Given the description of an element on the screen output the (x, y) to click on. 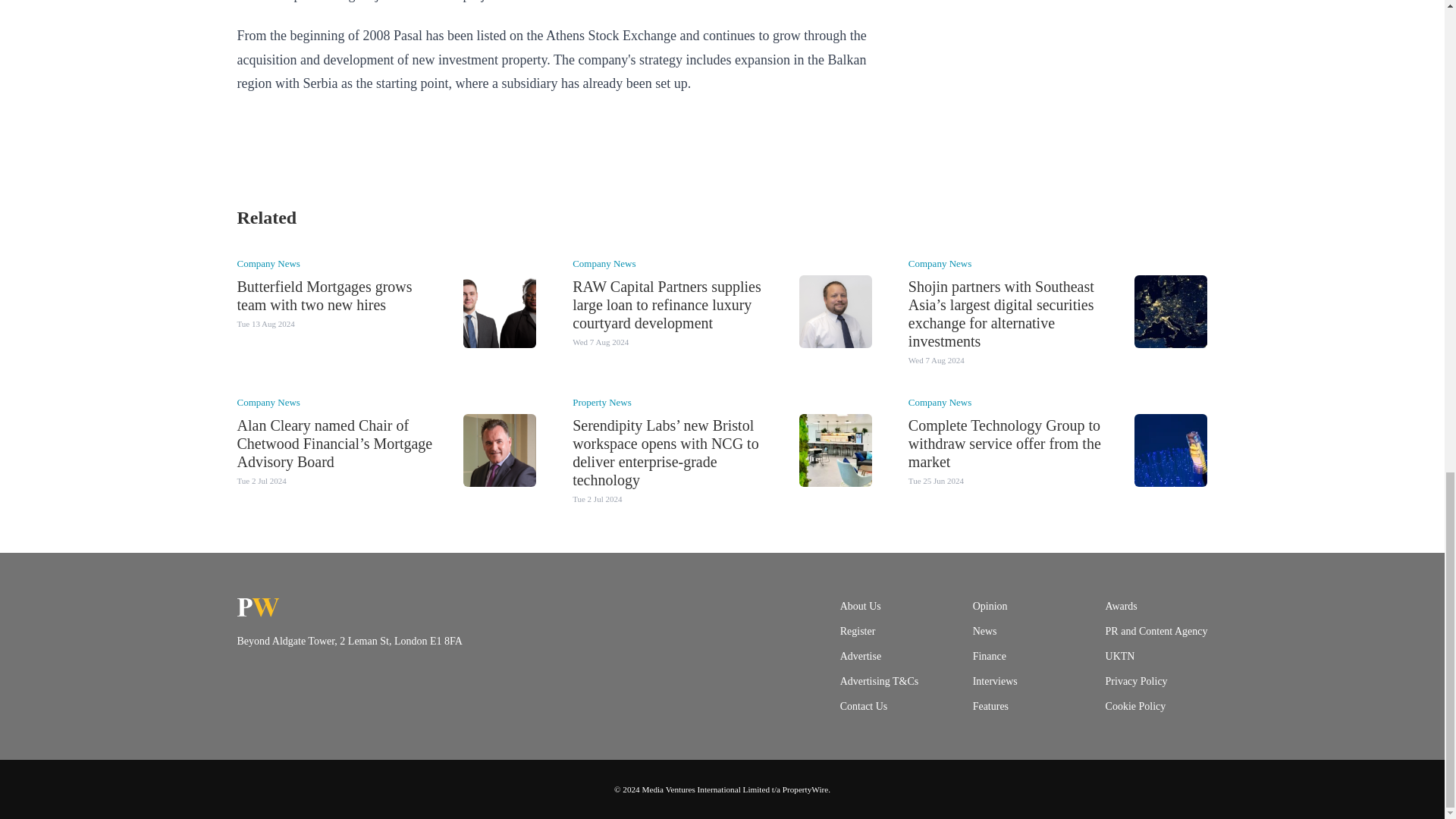
Company News (267, 263)
Company News (939, 263)
Butterfield Mortgages grows team with two new hires (323, 295)
Company News (603, 263)
